Given the description of an element on the screen output the (x, y) to click on. 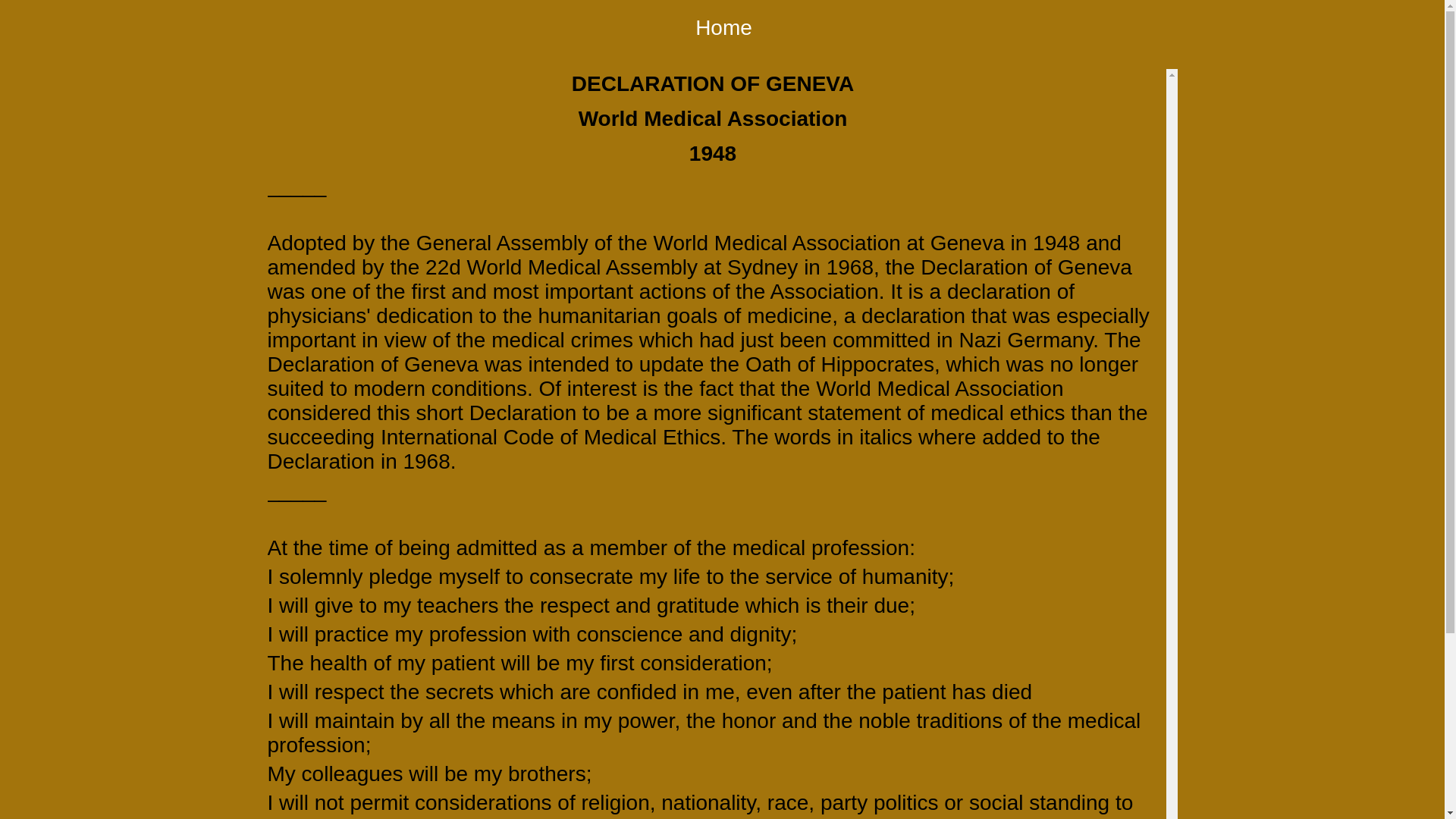
Home (723, 27)
